Given the description of an element on the screen output the (x, y) to click on. 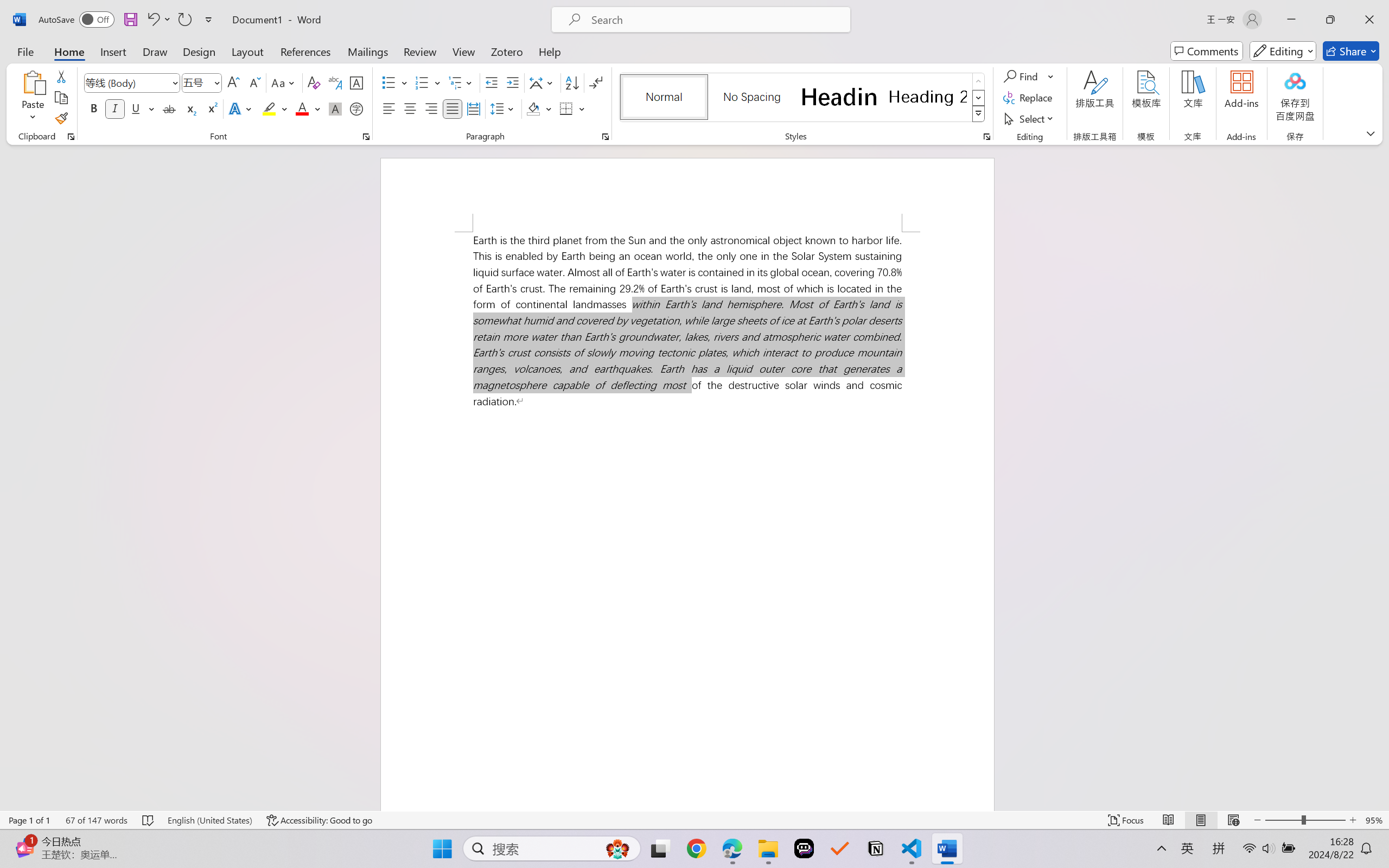
Paragraph... (605, 136)
Page Number Page 1 of 1 (29, 819)
Zoom 95% (1374, 819)
Italic (115, 108)
Increase Indent (512, 82)
Undo Italic (152, 19)
